Given the description of an element on the screen output the (x, y) to click on. 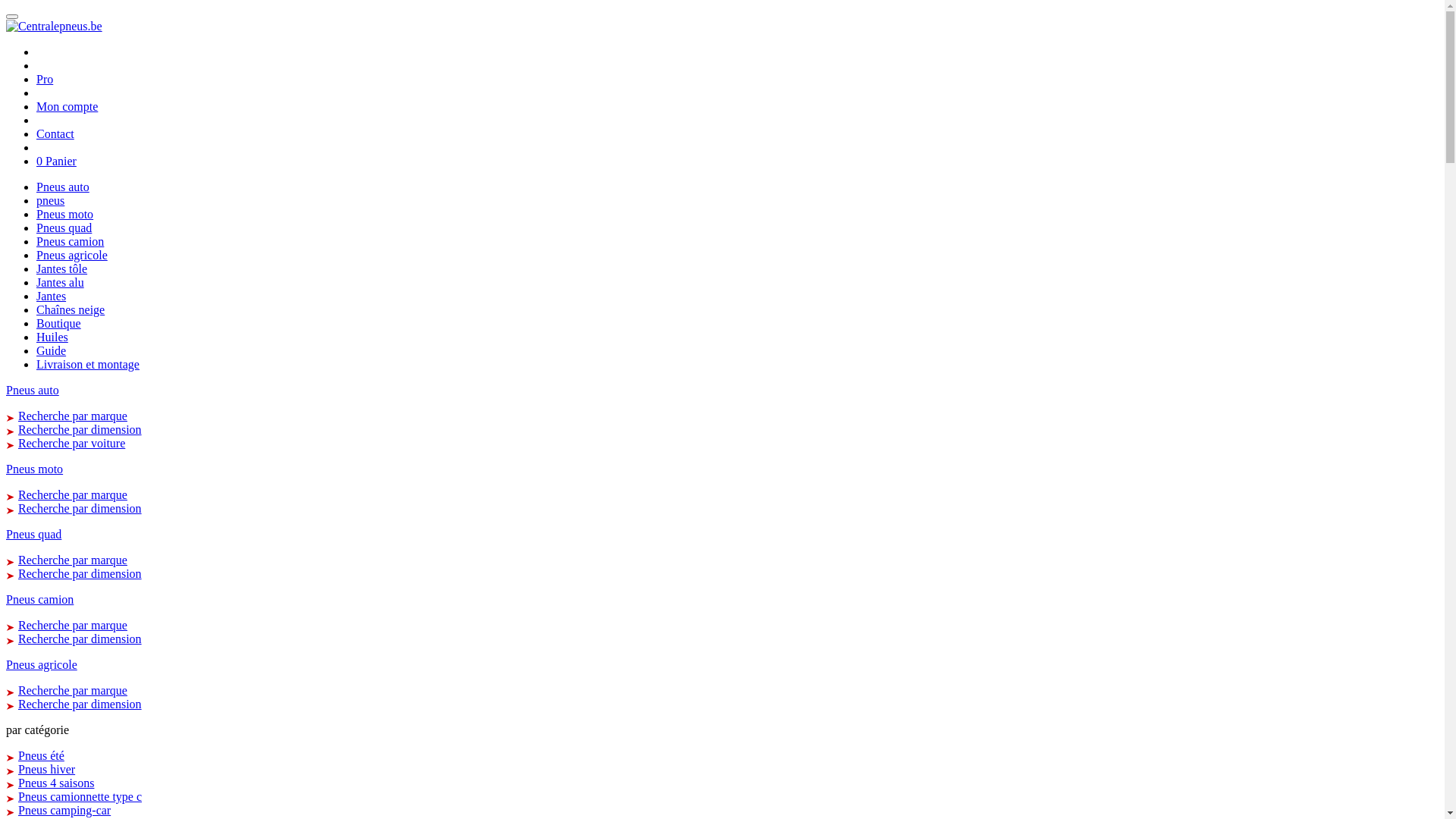
Recherche par marque Element type: text (72, 415)
Contact Element type: text (55, 133)
Pneus 4 saisons Element type: text (56, 782)
Recherche par marque Element type: text (72, 559)
Jantes Element type: text (50, 295)
Recherche par dimension Element type: text (79, 638)
Huiles Element type: text (52, 336)
Pneus auto Element type: text (449, 390)
Pneus quad Element type: text (63, 227)
pneus Element type: text (50, 200)
Recherche par marque Element type: text (72, 690)
Pro Element type: text (44, 78)
Recherche par voiture Element type: text (71, 442)
Mon compte Element type: text (66, 106)
Recherche par dimension Element type: text (79, 508)
Recherche par marque Element type: text (72, 494)
0 Panier Element type: text (56, 160)
Pneus auto Element type: text (62, 186)
Pneus quad Element type: text (449, 534)
Recherche par dimension Element type: text (79, 429)
Pneus camion Element type: text (69, 241)
Pneus moto Element type: text (64, 213)
Guide Element type: text (50, 350)
Livraison et montage Element type: text (87, 363)
Boutique Element type: text (58, 322)
Recherche par marque Element type: text (72, 624)
Pneus camping-car Element type: text (64, 809)
Recherche par dimension Element type: text (79, 573)
Pneus agricole Element type: text (449, 664)
Pneus camion Element type: text (449, 599)
Pneus camionnette type c Element type: text (79, 796)
Pneus agricole Element type: text (71, 254)
Pneus hiver Element type: text (46, 768)
Jantes alu Element type: text (60, 282)
Pneus moto Element type: text (449, 469)
Recherche par dimension Element type: text (79, 703)
